Given the description of an element on the screen output the (x, y) to click on. 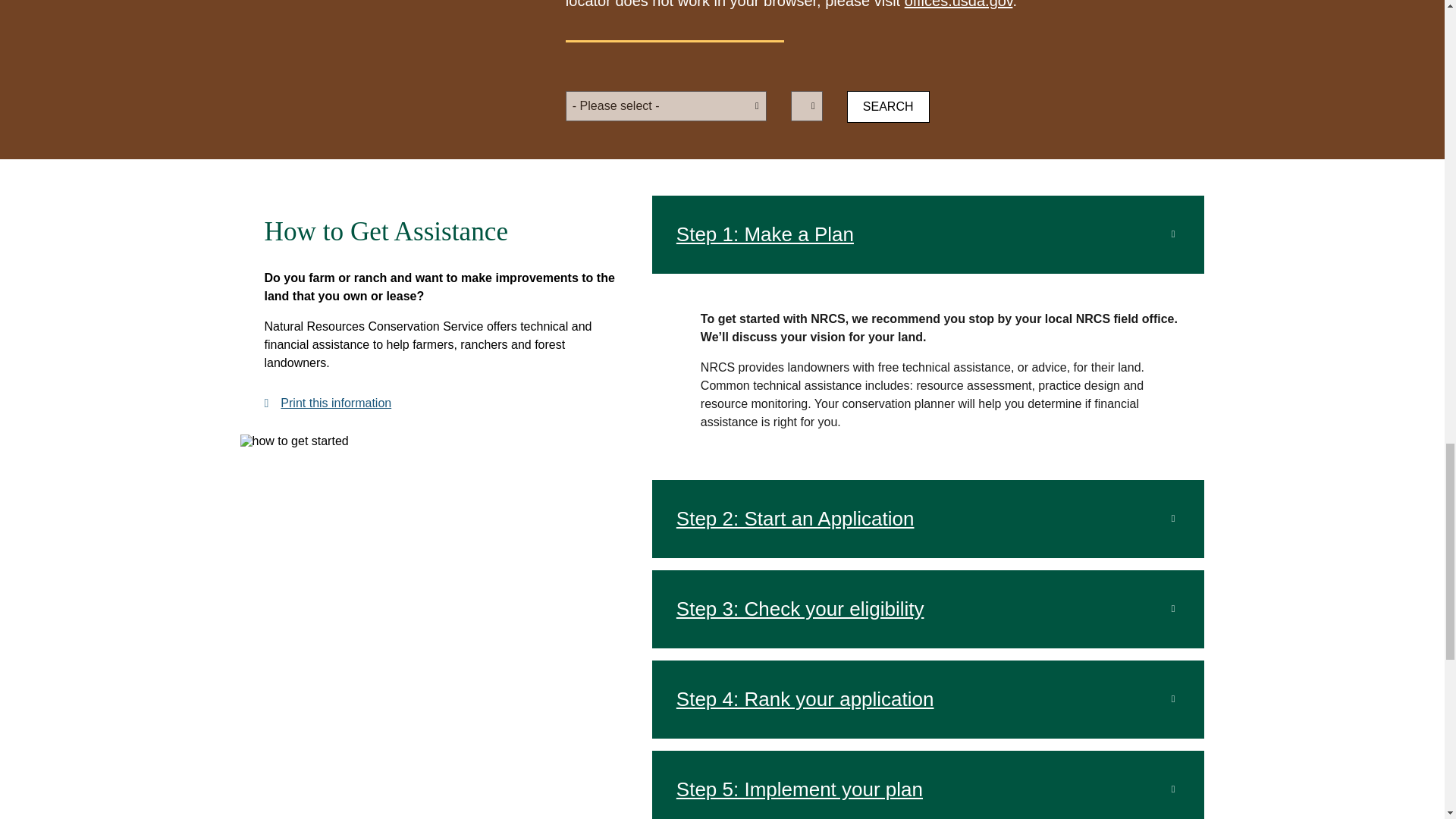
Search (888, 106)
